Given the description of an element on the screen output the (x, y) to click on. 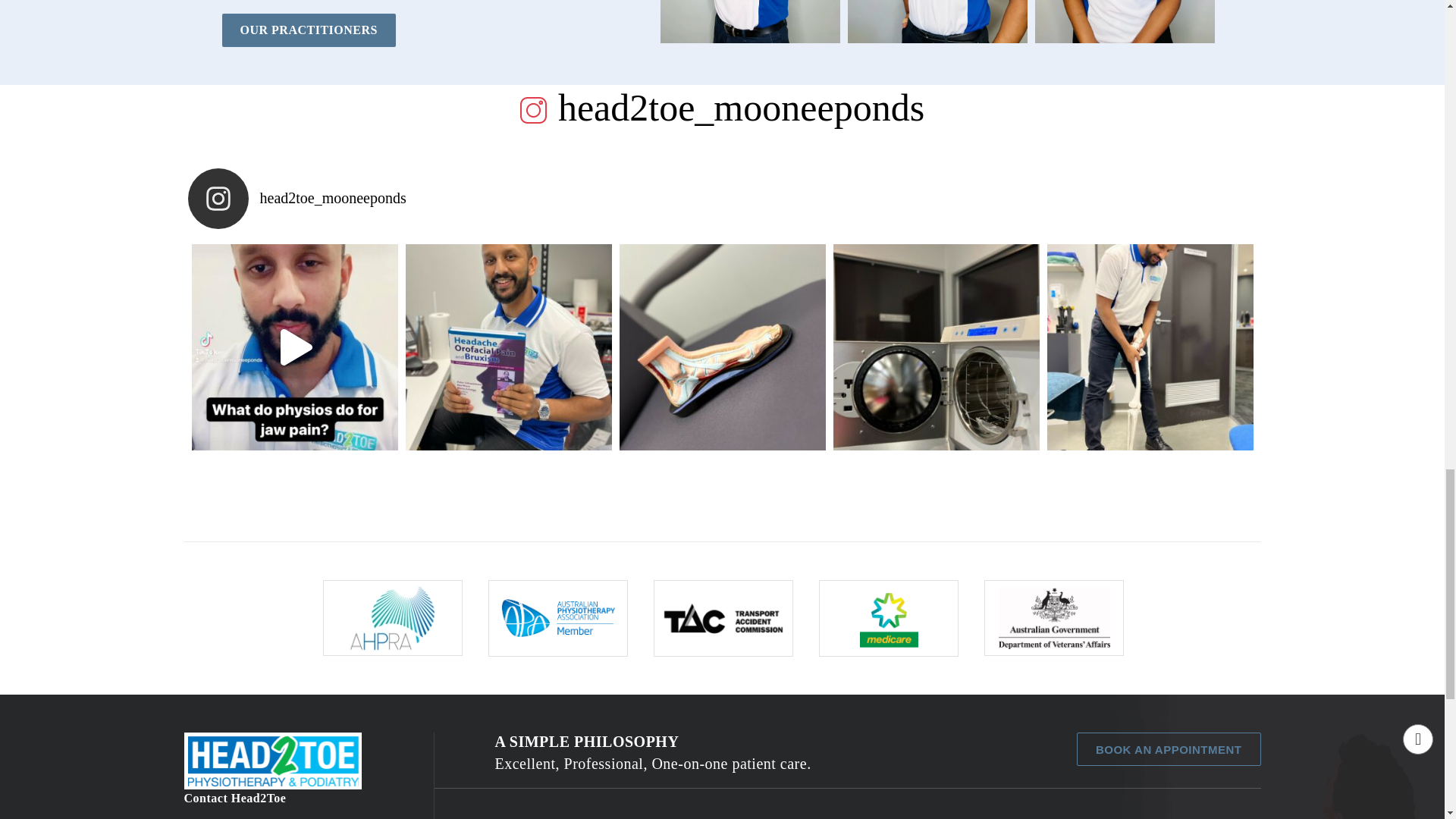
BOOK AN APPOINTMENT (1168, 748)
